Given the description of an element on the screen output the (x, y) to click on. 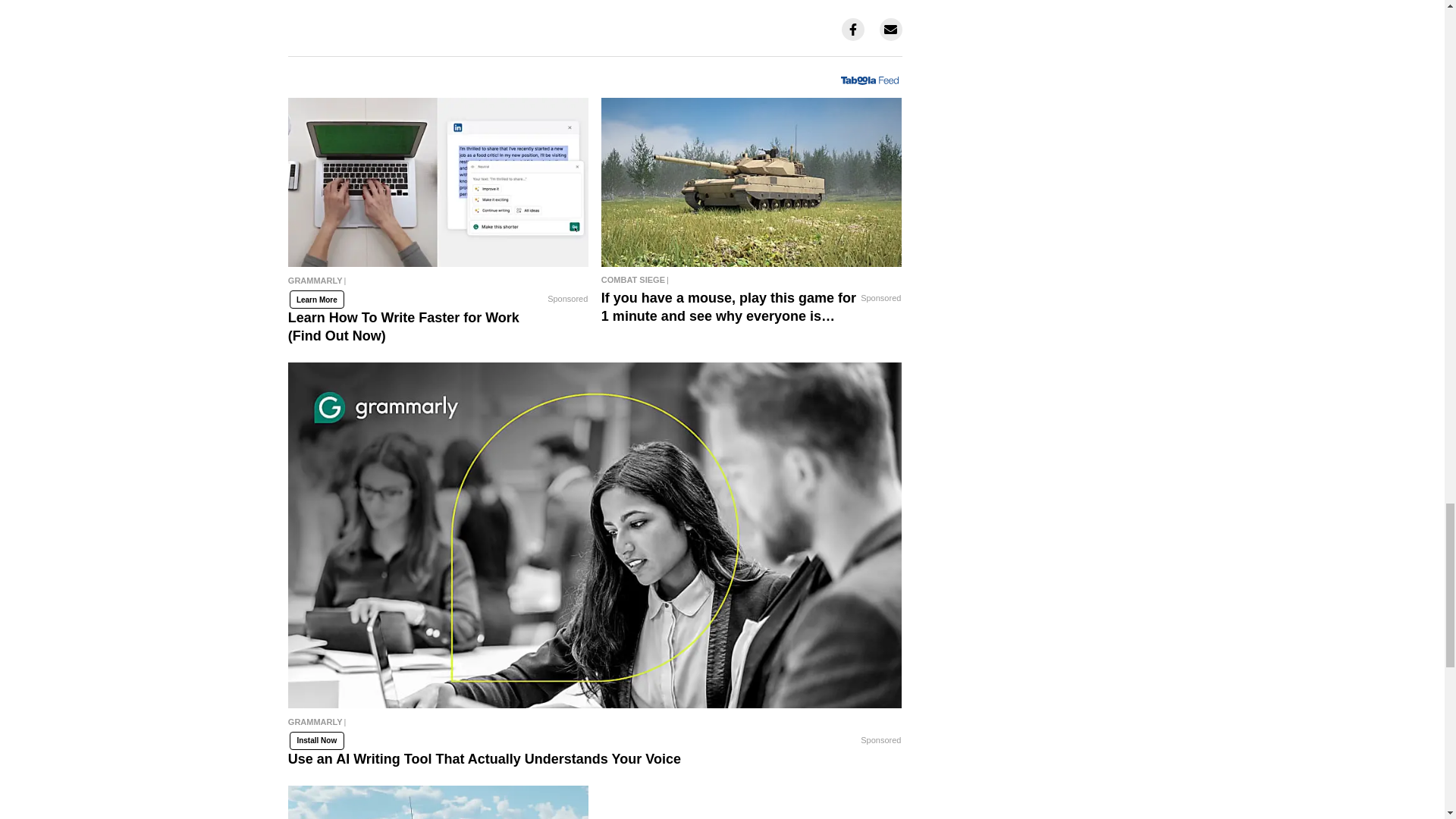
Sponsored (567, 299)
Use an AI Writing Tool That Actually Understands Your Voice (595, 727)
Play War Thunder now for free (438, 802)
